Given the description of an element on the screen output the (x, y) to click on. 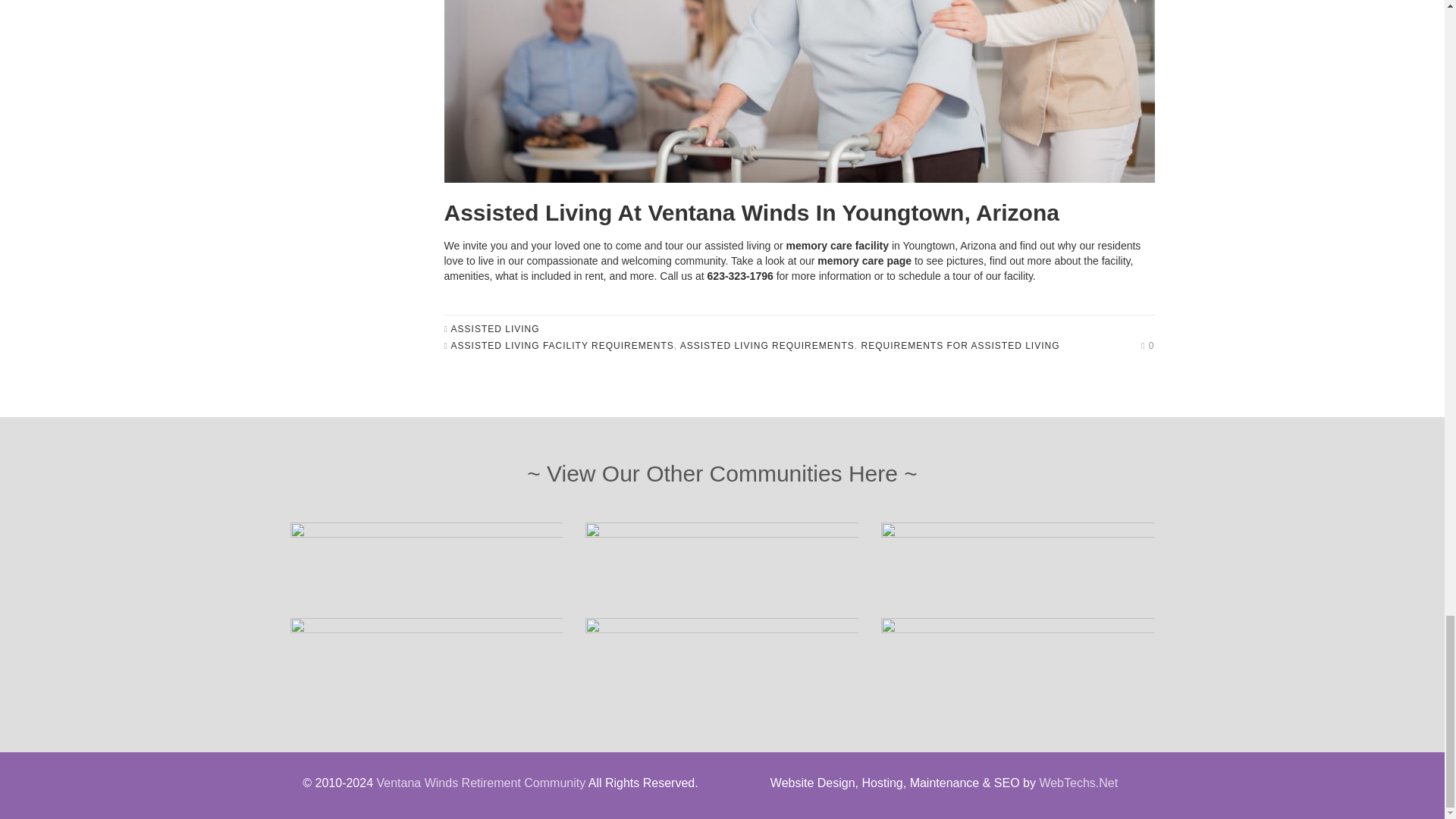
WebTechs.Net (1078, 782)
ASSISTED LIVING (495, 328)
ASSISTED LIVING FACILITY REQUIREMENTS (562, 345)
623-323-1796 (740, 275)
Ventana Winds Retirement Community (480, 782)
memory care facility (837, 245)
REQUIREMENTS FOR ASSISTED LIVING (959, 345)
memory care page (863, 260)
ASSISTED LIVING REQUIREMENTS (766, 345)
